Given the description of an element on the screen output the (x, y) to click on. 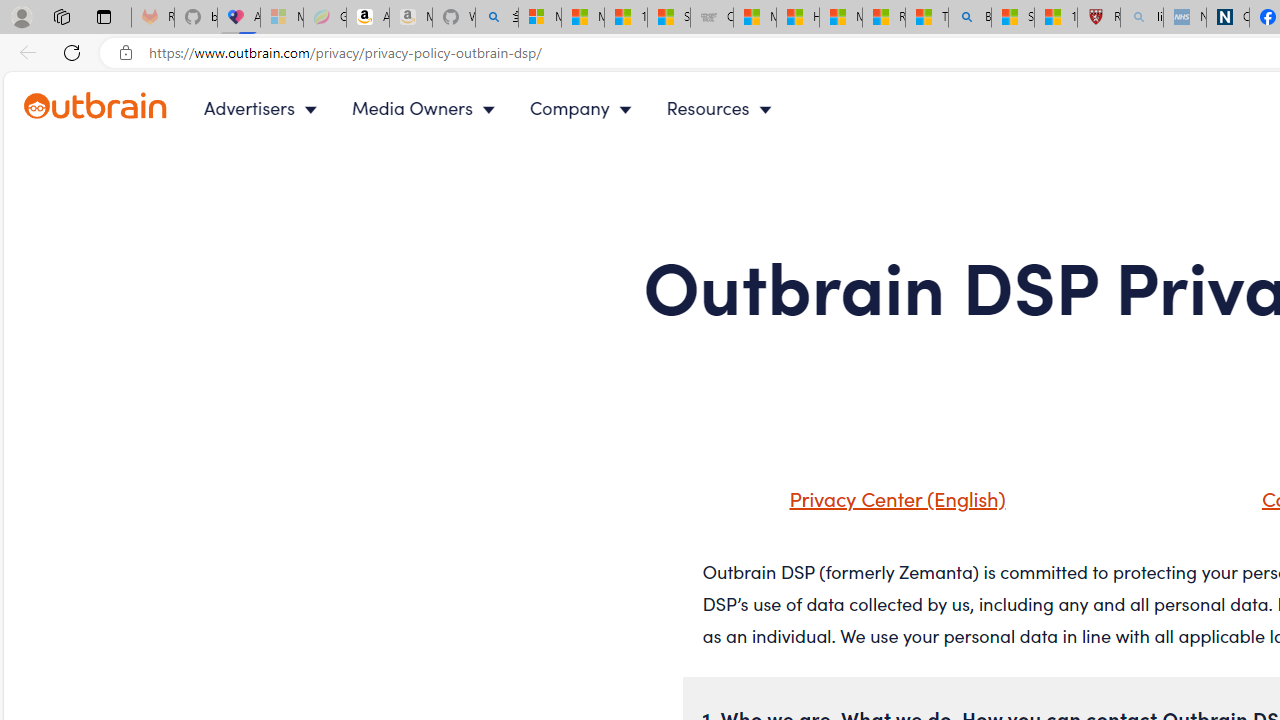
Main Navigation (504, 107)
Bing (969, 17)
Company (585, 107)
Privacy Center (English) (872, 505)
Outbrain logo - link to homepage (96, 106)
